Given the description of an element on the screen output the (x, y) to click on. 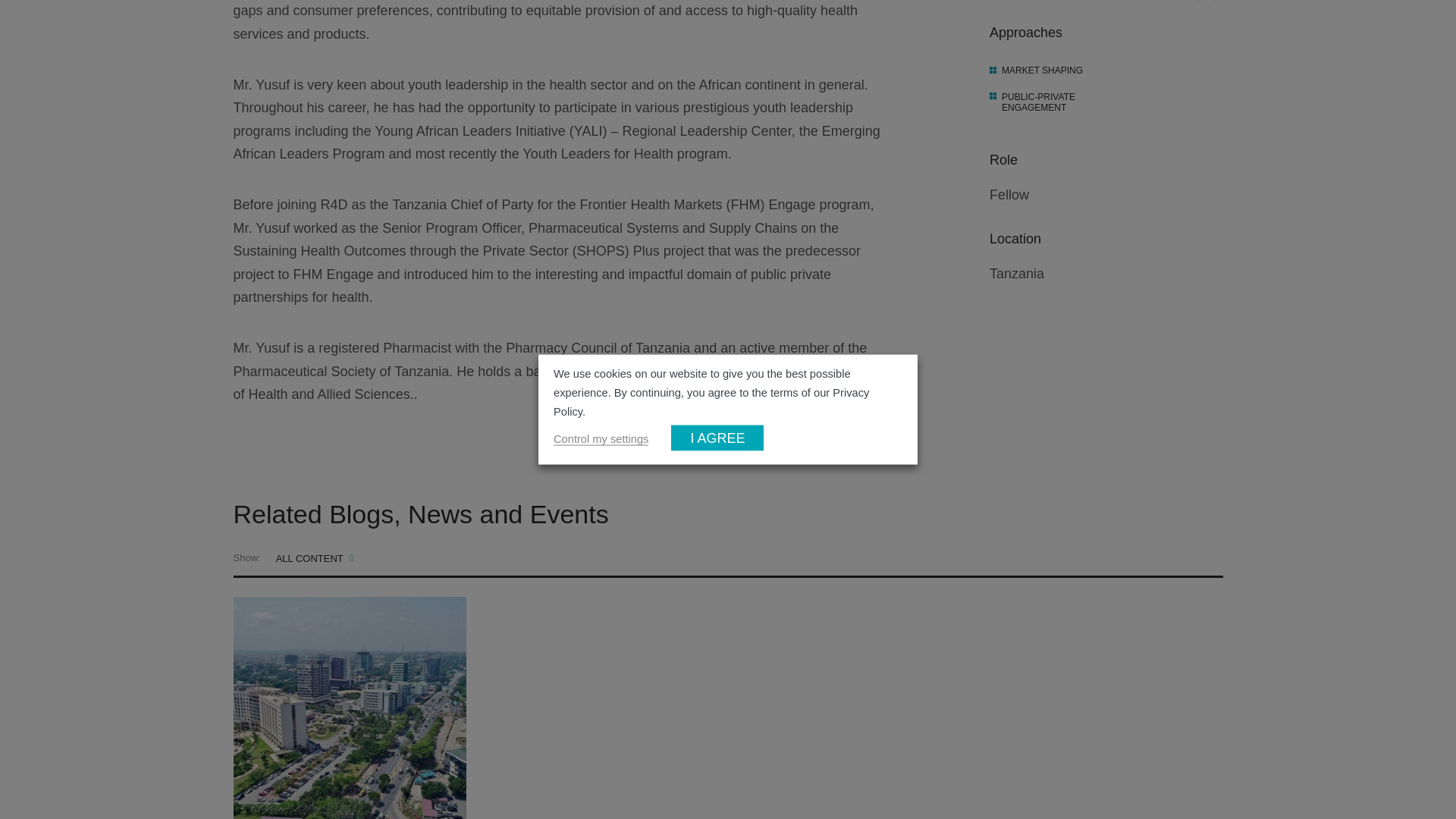
Share via Email (1206, 2)
